Given the description of an element on the screen output the (x, y) to click on. 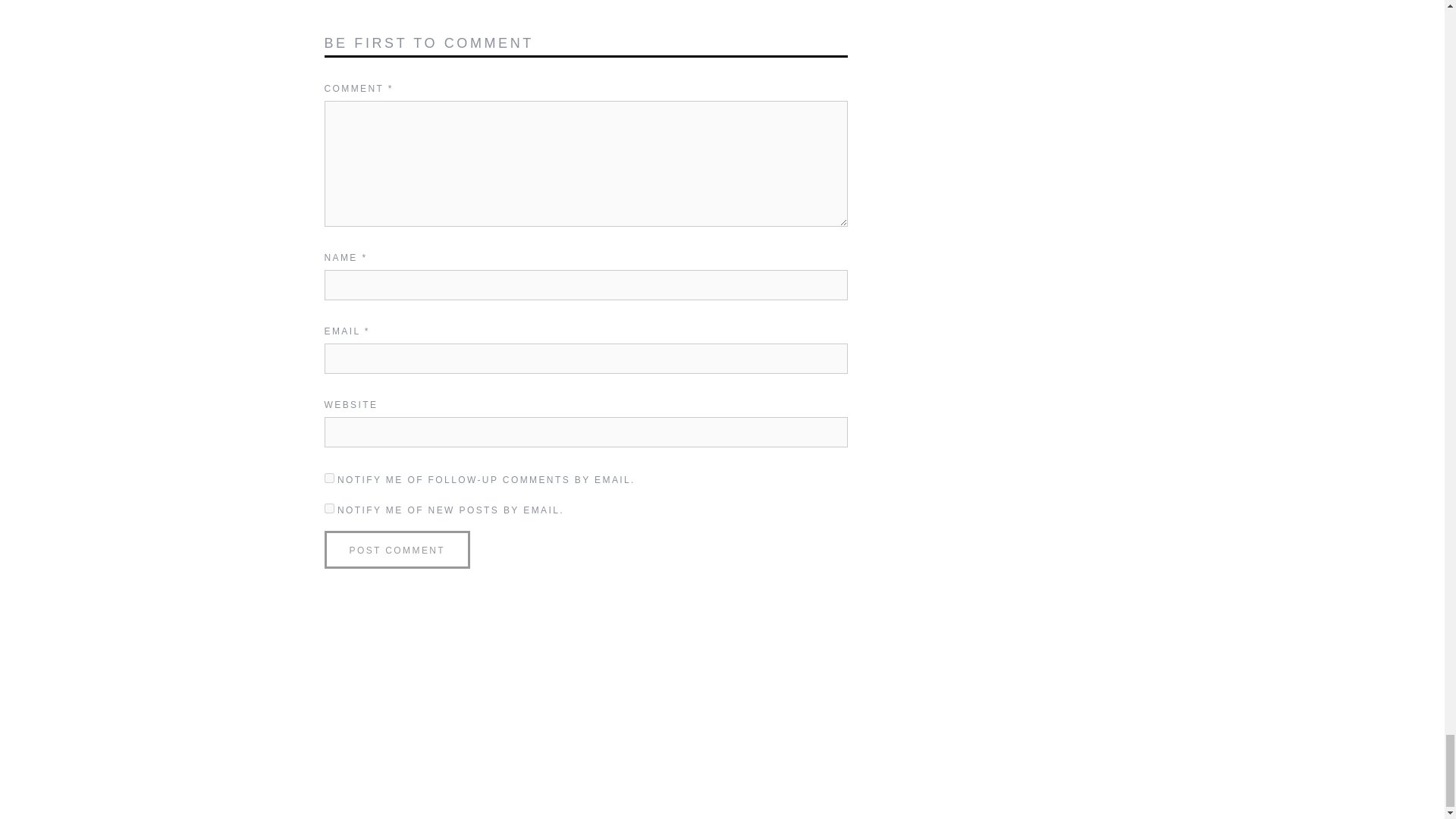
subscribe (329, 478)
Post Comment (397, 549)
subscribe (329, 508)
